Given the description of an element on the screen output the (x, y) to click on. 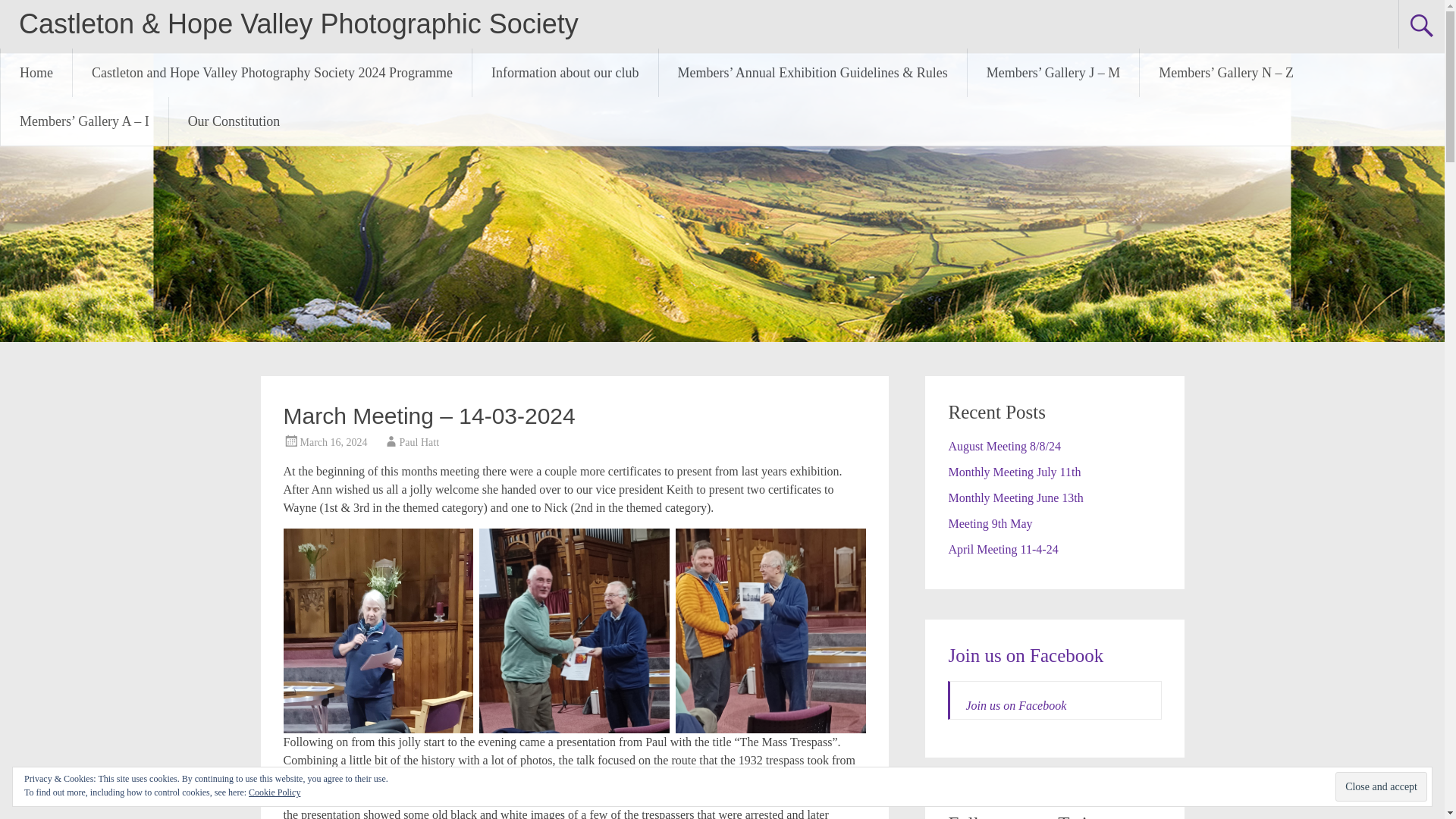
Paul Hatt (418, 441)
March 16, 2024 (333, 441)
Information about our club (564, 72)
Home (36, 72)
Castleton and Hope Valley Photography Society 2024 Programme (271, 72)
Our Constitution (233, 121)
Close and accept (1380, 786)
